Given the description of an element on the screen output the (x, y) to click on. 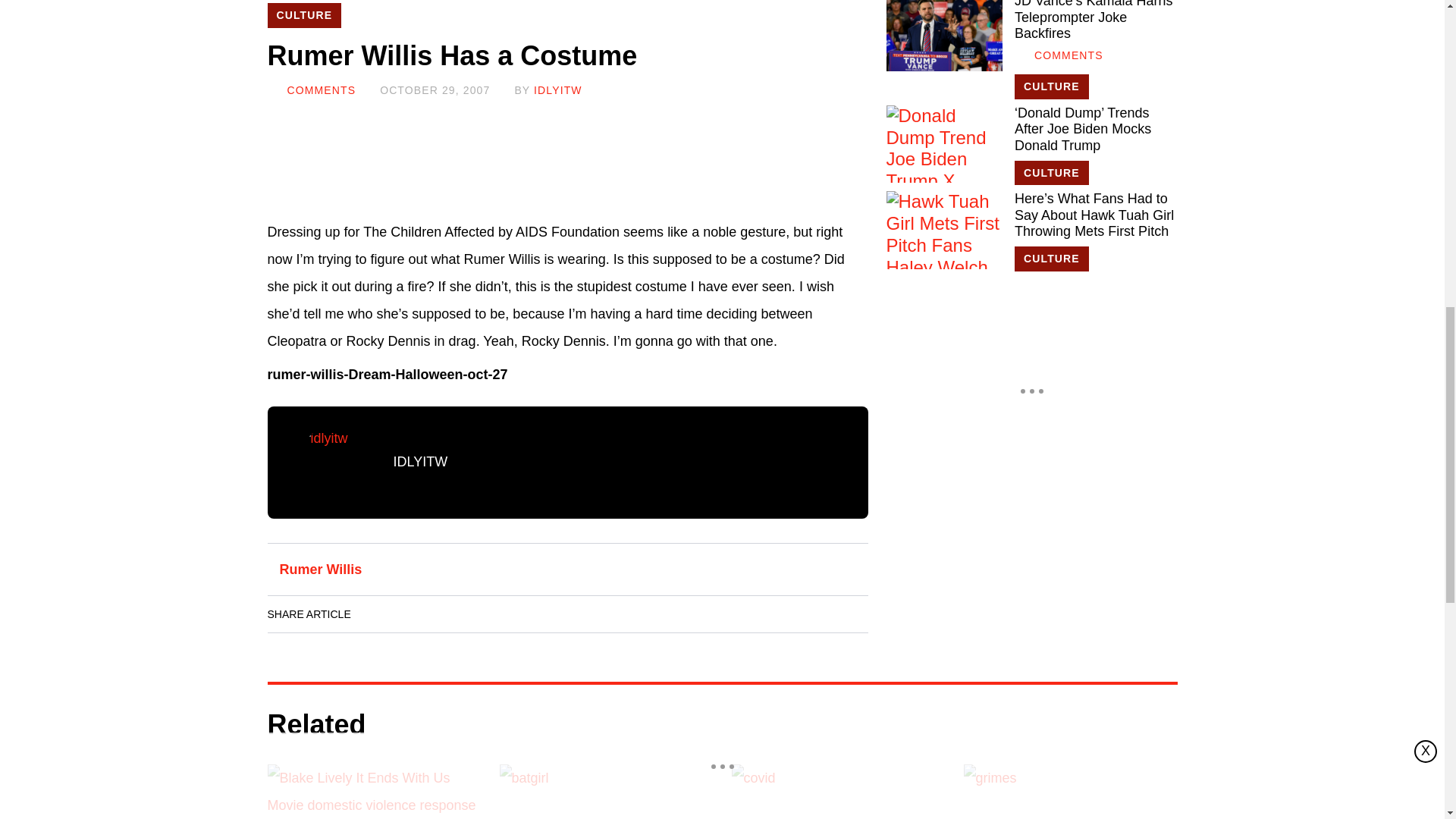
CULTURE (1051, 86)
LinkedIn (420, 613)
CULTURE (1051, 258)
CULTURE (303, 15)
IDLYITW (558, 90)
Rumer Willis (320, 569)
CULTURE (1051, 172)
IDLYITW (419, 461)
Twitter (463, 613)
Facebook (377, 613)
